Given the description of an element on the screen output the (x, y) to click on. 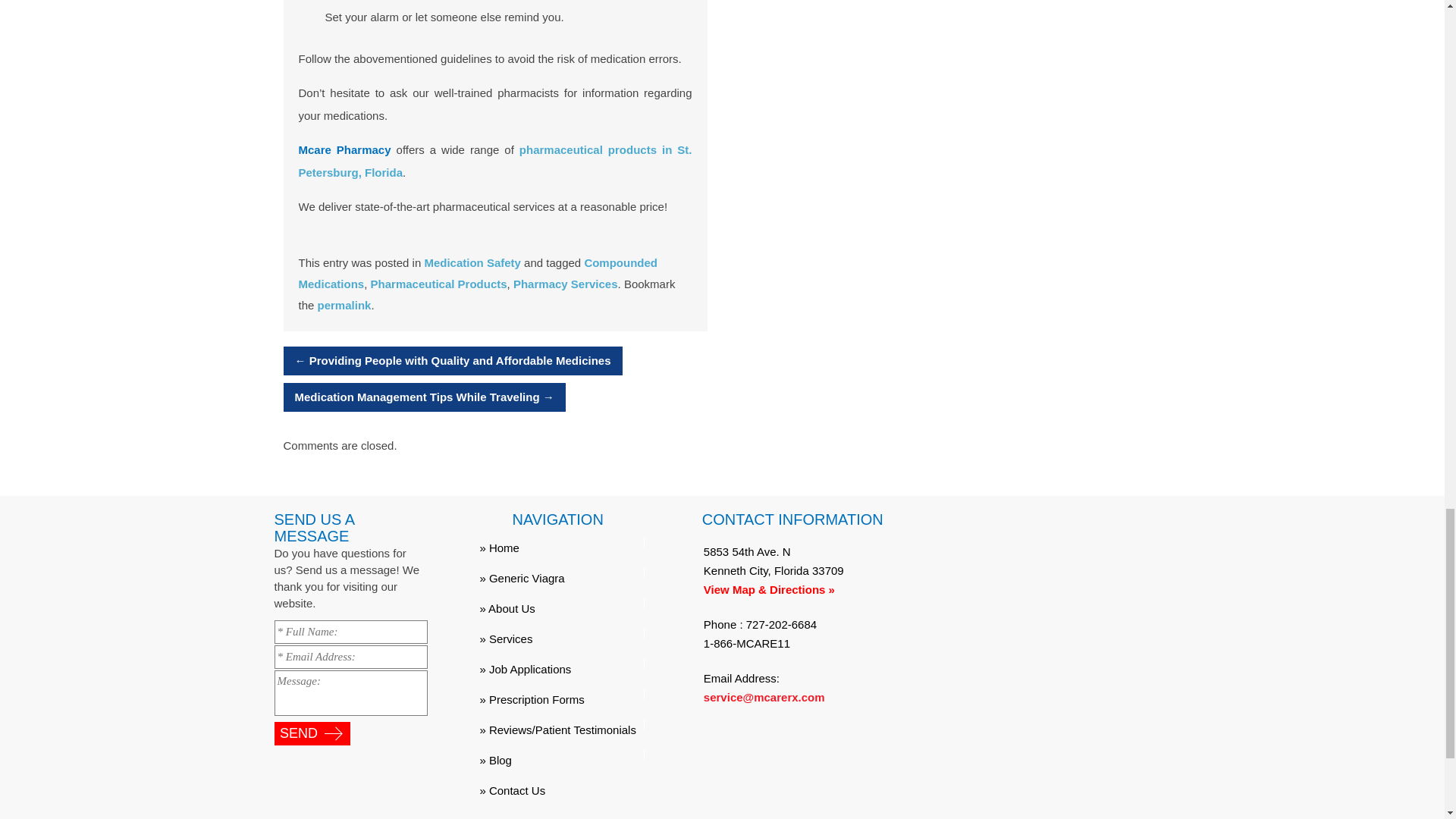
Pharmacy Services (565, 283)
pharmaceutical products in St. Petersburg, Florida (495, 161)
Compounded Medications (478, 273)
Permalink to Medication Safety: How to Prevent Common Errors (344, 305)
Medication Safety (472, 262)
permalink (344, 305)
SEND  (312, 733)
SEND  (312, 733)
Pharmaceutical Products (438, 283)
